Given the description of an element on the screen output the (x, y) to click on. 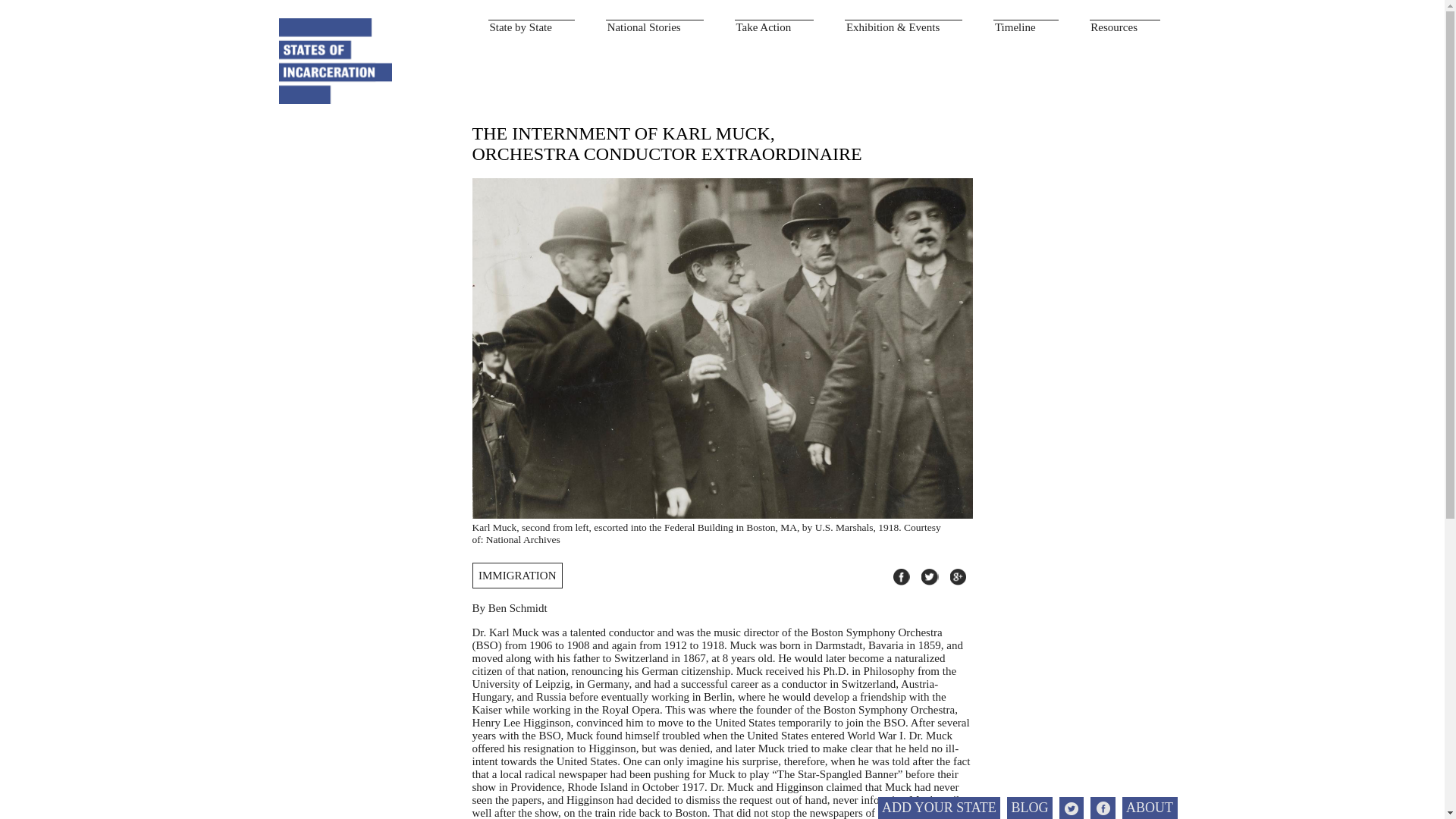
State by State (531, 27)
ADD YOUR STATE (939, 807)
Take Action (774, 27)
Home (336, 59)
Share on Google Plus (957, 577)
Resources (1124, 27)
National Stories (654, 27)
ABOUT (1149, 807)
BLOG (1029, 807)
Share on Facebook (902, 577)
Timeline (1025, 27)
Share on Twitter (930, 577)
